Given the description of an element on the screen output the (x, y) to click on. 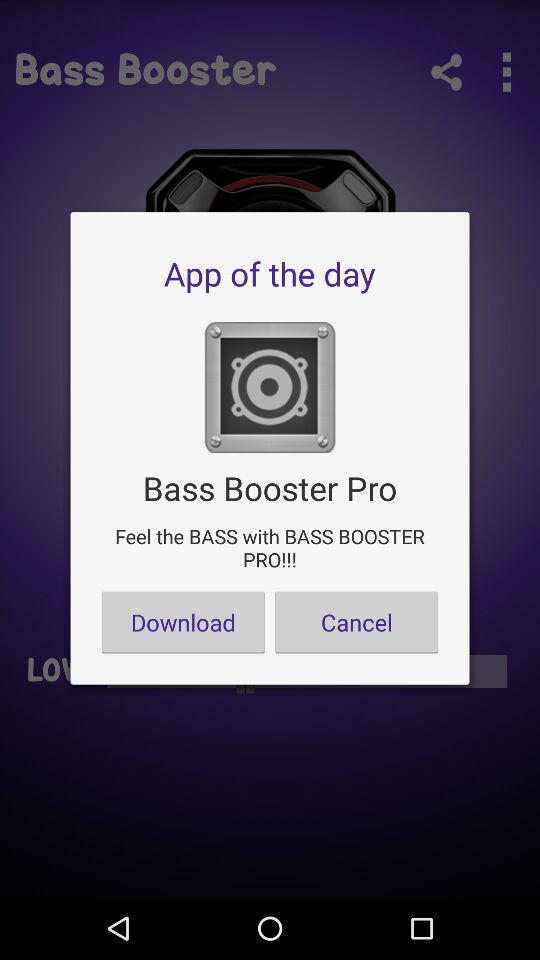
select item to the left of the cancel item (183, 622)
